Given the description of an element on the screen output the (x, y) to click on. 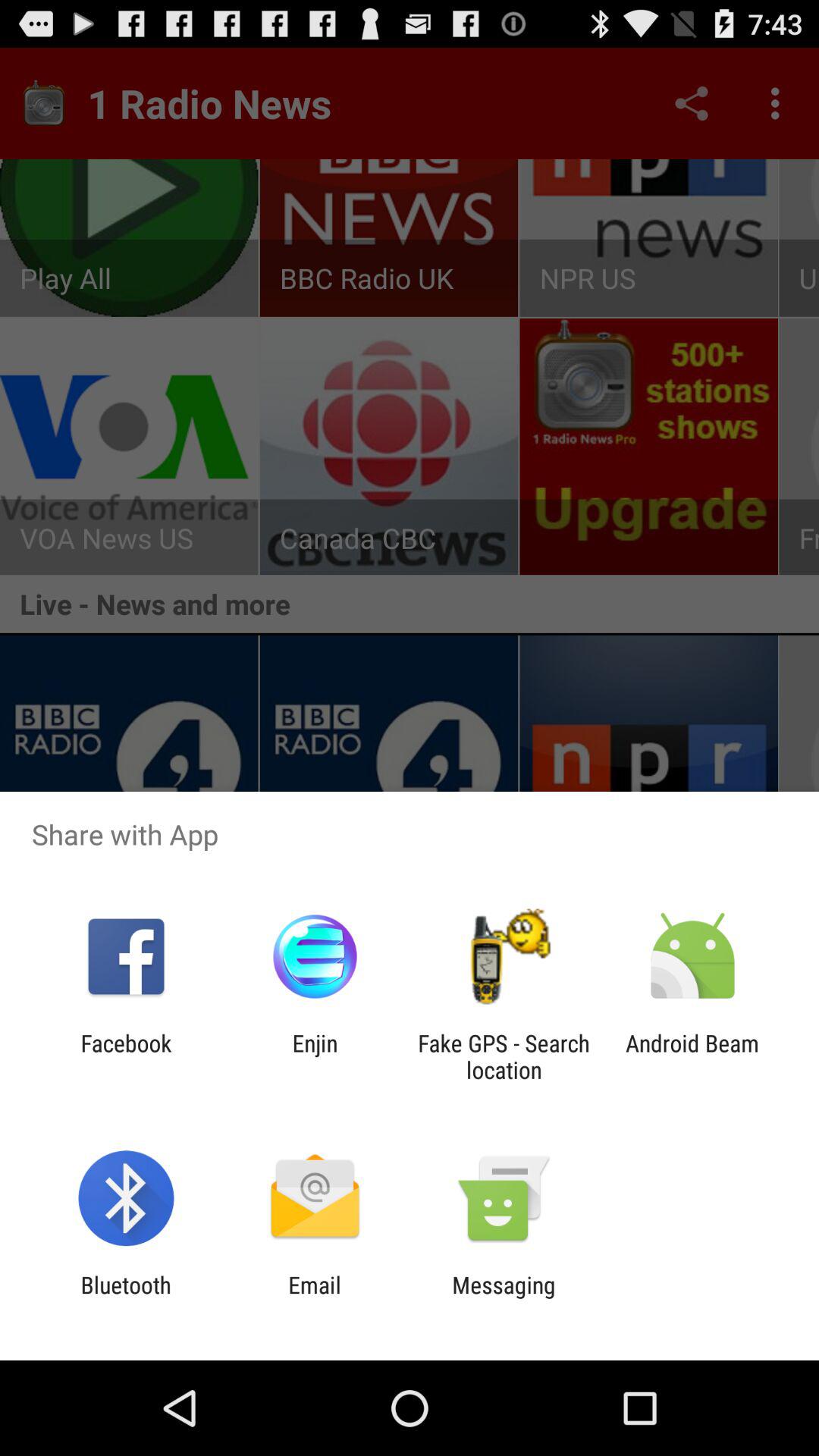
launch the enjin icon (314, 1056)
